Given the description of an element on the screen output the (x, y) to click on. 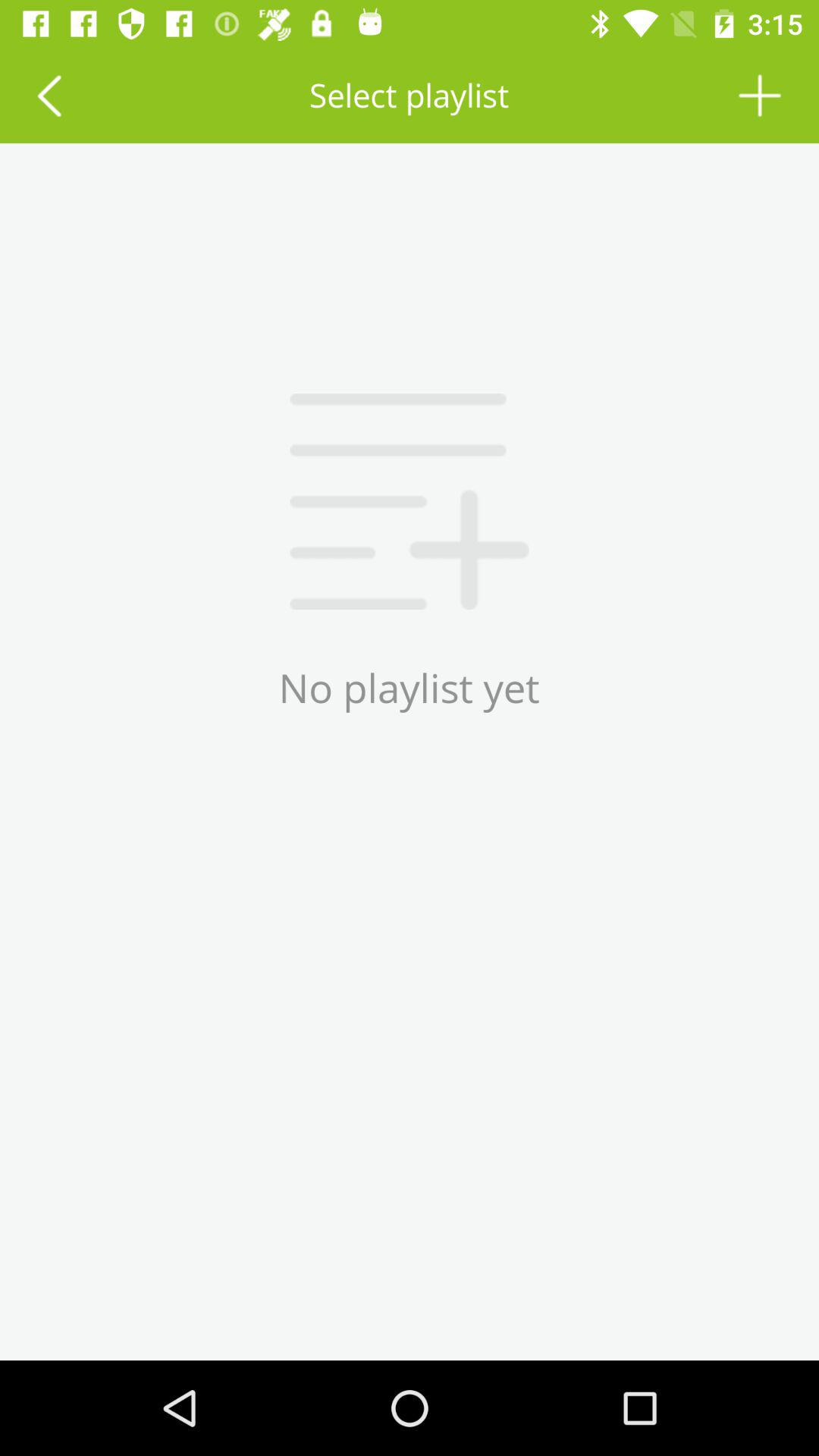
return (48, 95)
